Given the description of an element on the screen output the (x, y) to click on. 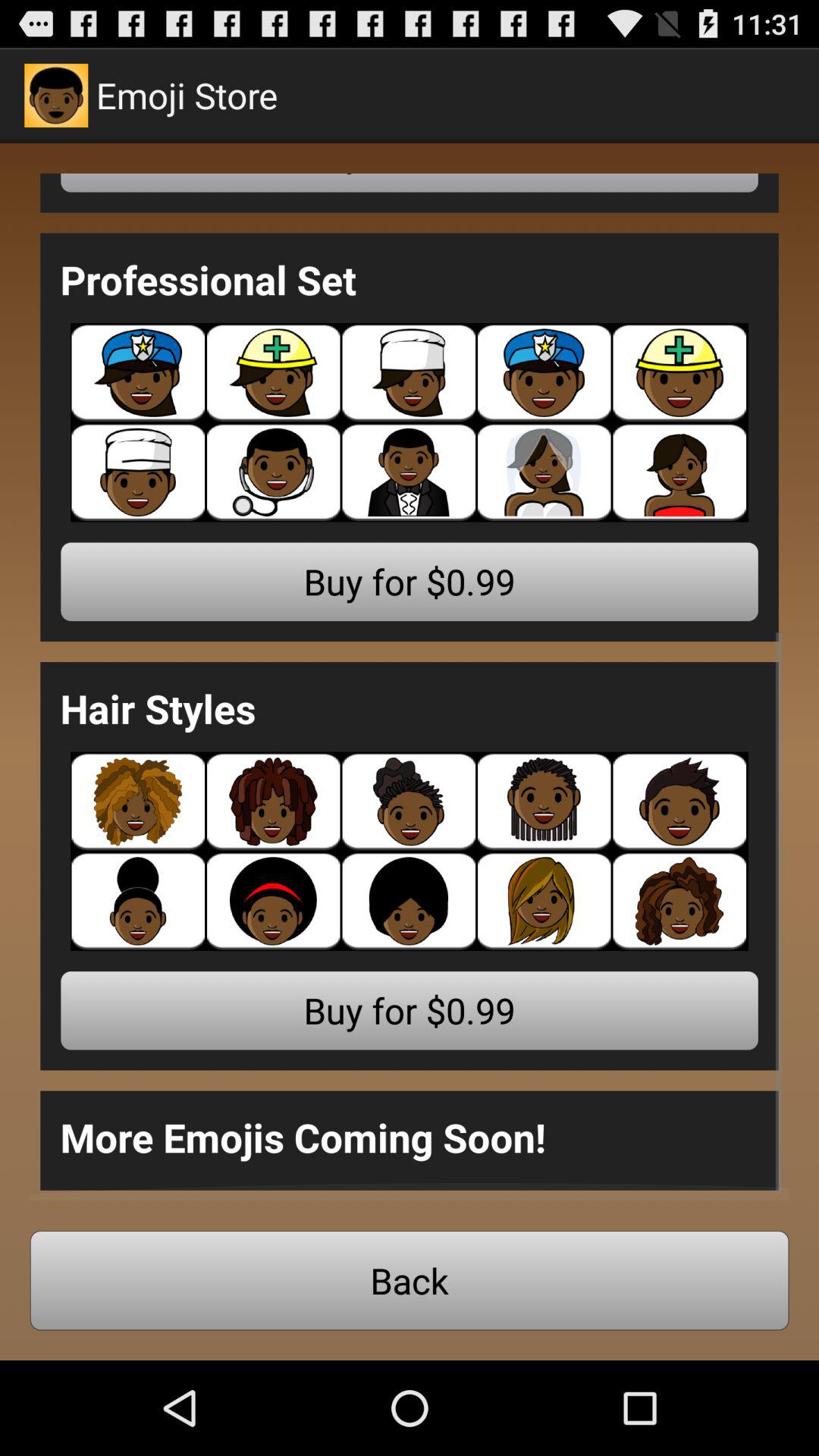
select back button (409, 1280)
